Given the description of an element on the screen output the (x, y) to click on. 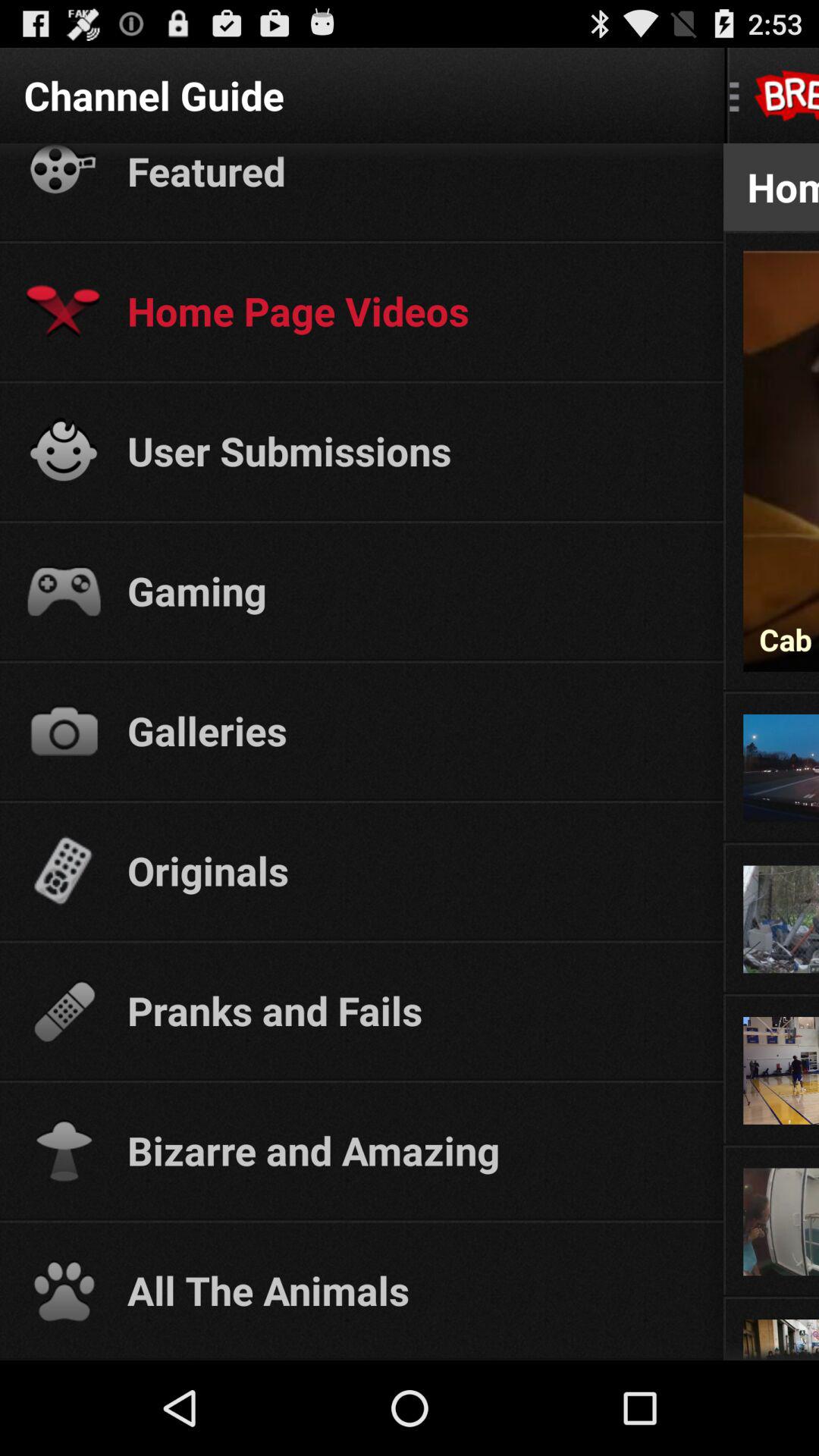
turn off user submissions icon (411, 450)
